Given the description of an element on the screen output the (x, y) to click on. 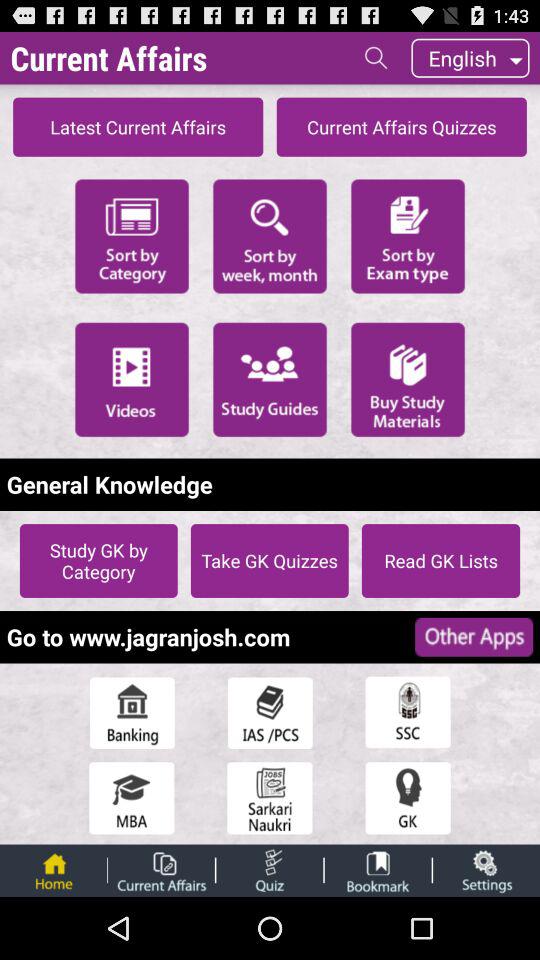
select sort by category (131, 234)
